Given the description of an element on the screen output the (x, y) to click on. 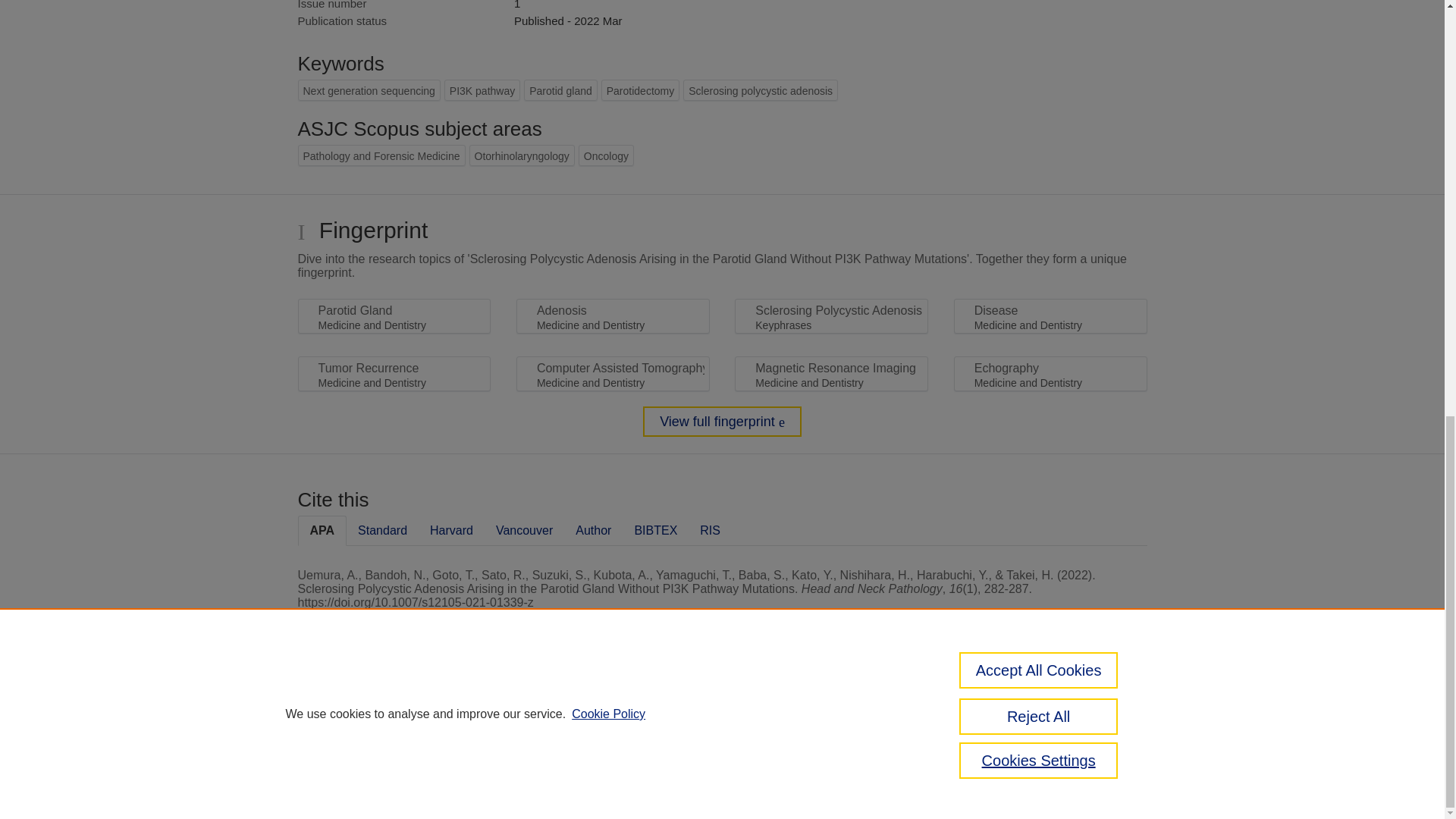
Cookies Settings (334, 781)
About web accessibility (1088, 713)
Elsevier B.V. (506, 728)
use of cookies (796, 760)
View full fingerprint (722, 421)
Pure (362, 708)
Scopus (394, 708)
